Given the description of an element on the screen output the (x, y) to click on. 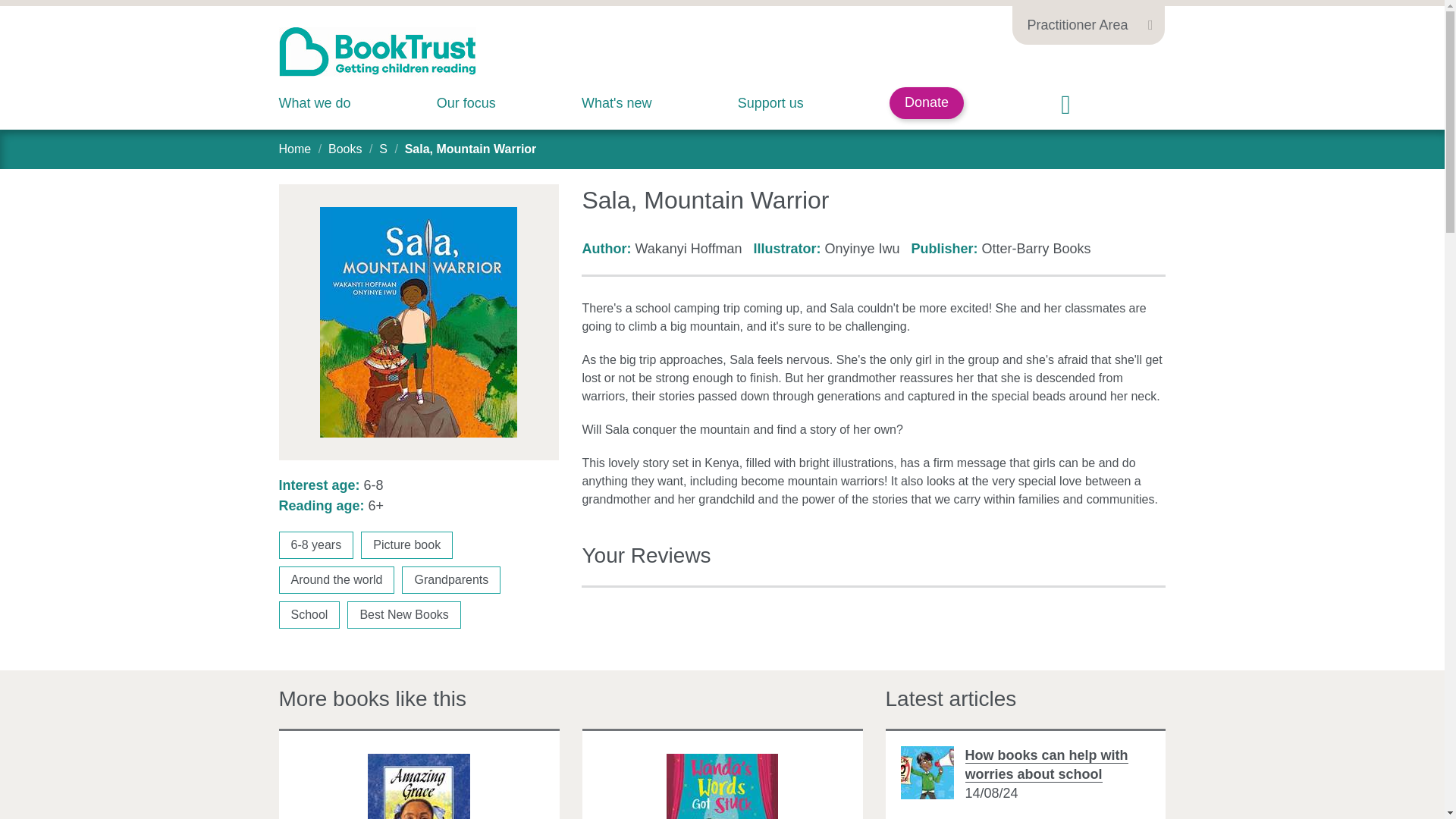
Wanda's Words Got Stuck (721, 786)
Home (295, 148)
Amazing Grace (419, 786)
Practitioner Area (1087, 22)
BookTrust Logo (377, 51)
How books can help with worries about school (1044, 764)
How books can help with worries about school (927, 772)
What we do (314, 103)
